Given the description of an element on the screen output the (x, y) to click on. 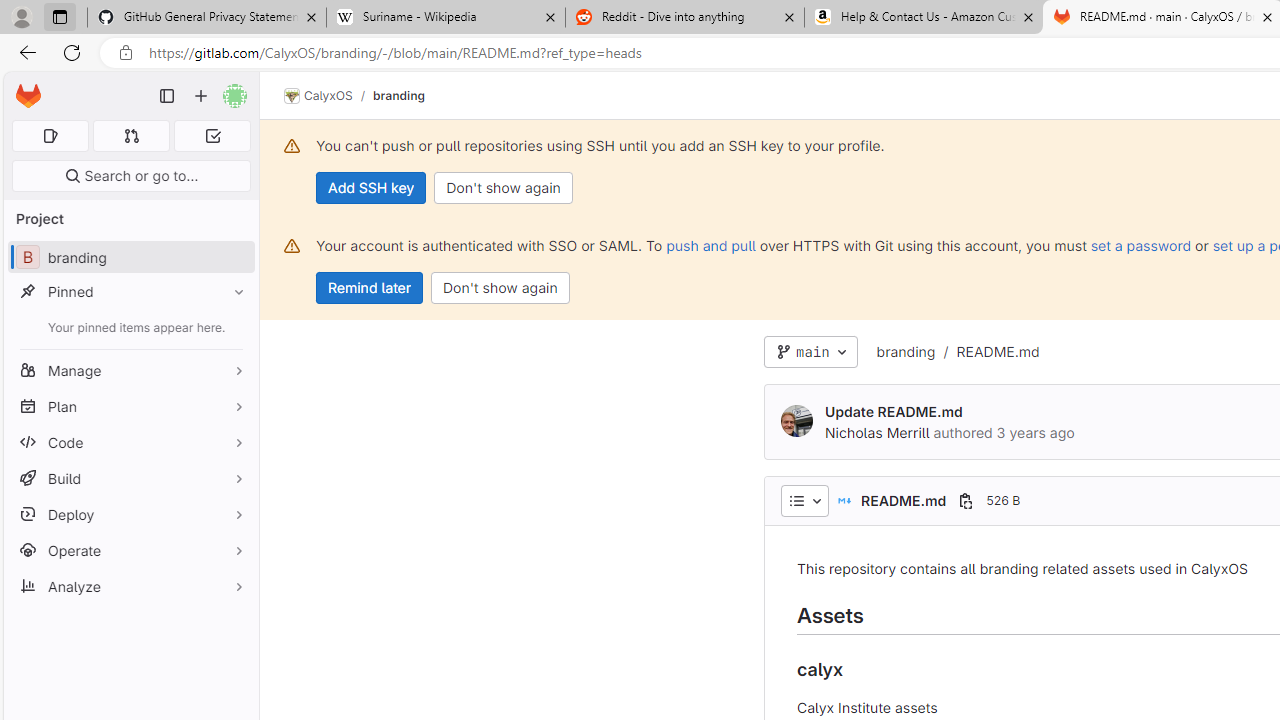
CalyxOS (318, 96)
Don't show again (500, 287)
Copy file path (966, 500)
push and pull (710, 245)
Nicholas Merrill's avatar (796, 421)
/README.md (986, 351)
Add SSH key (371, 187)
README.md (997, 351)
Primary navigation sidebar (167, 96)
Remind later (369, 287)
